Given the description of an element on the screen output the (x, y) to click on. 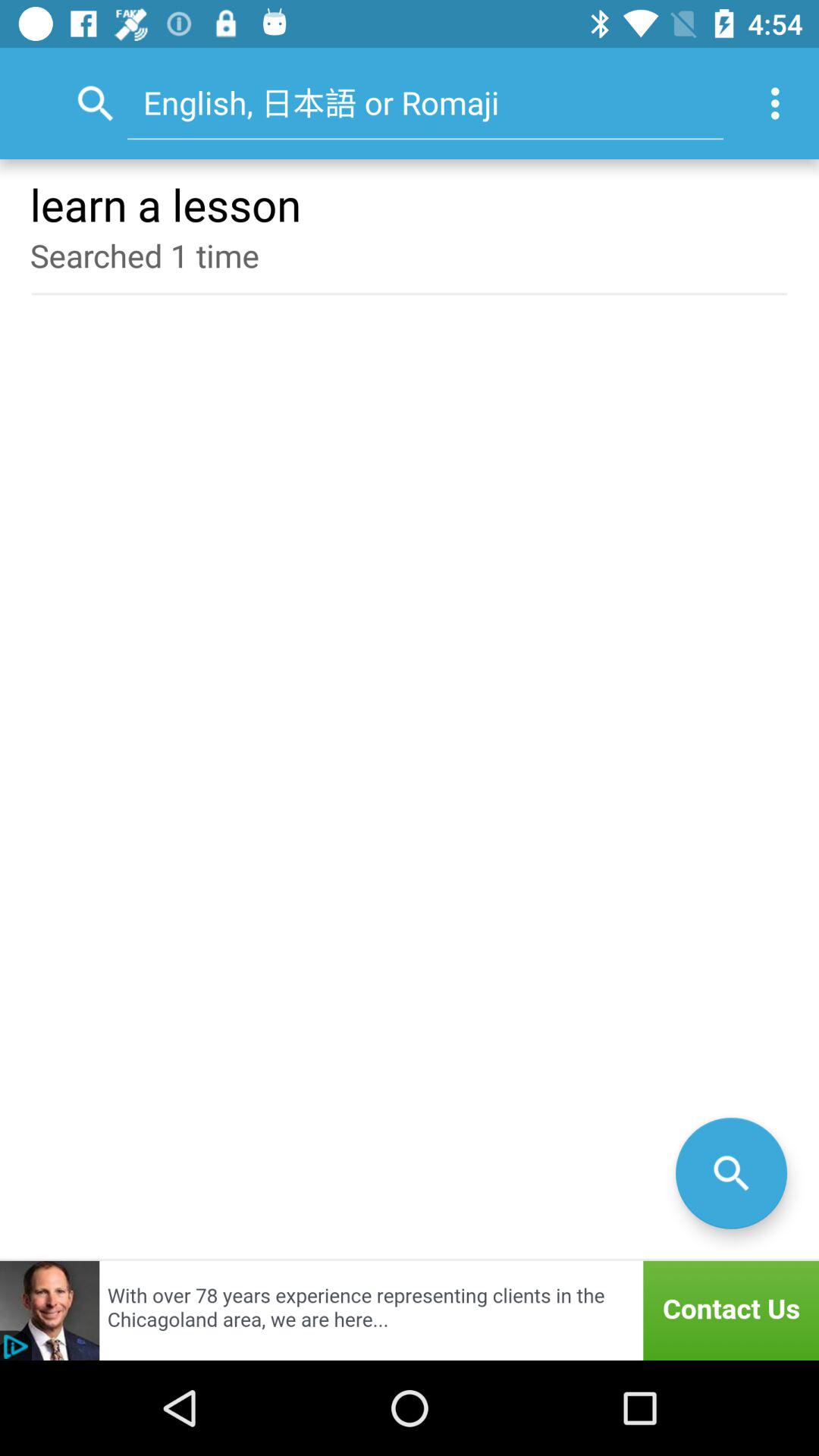
search (731, 1173)
